Given the description of an element on the screen output the (x, y) to click on. 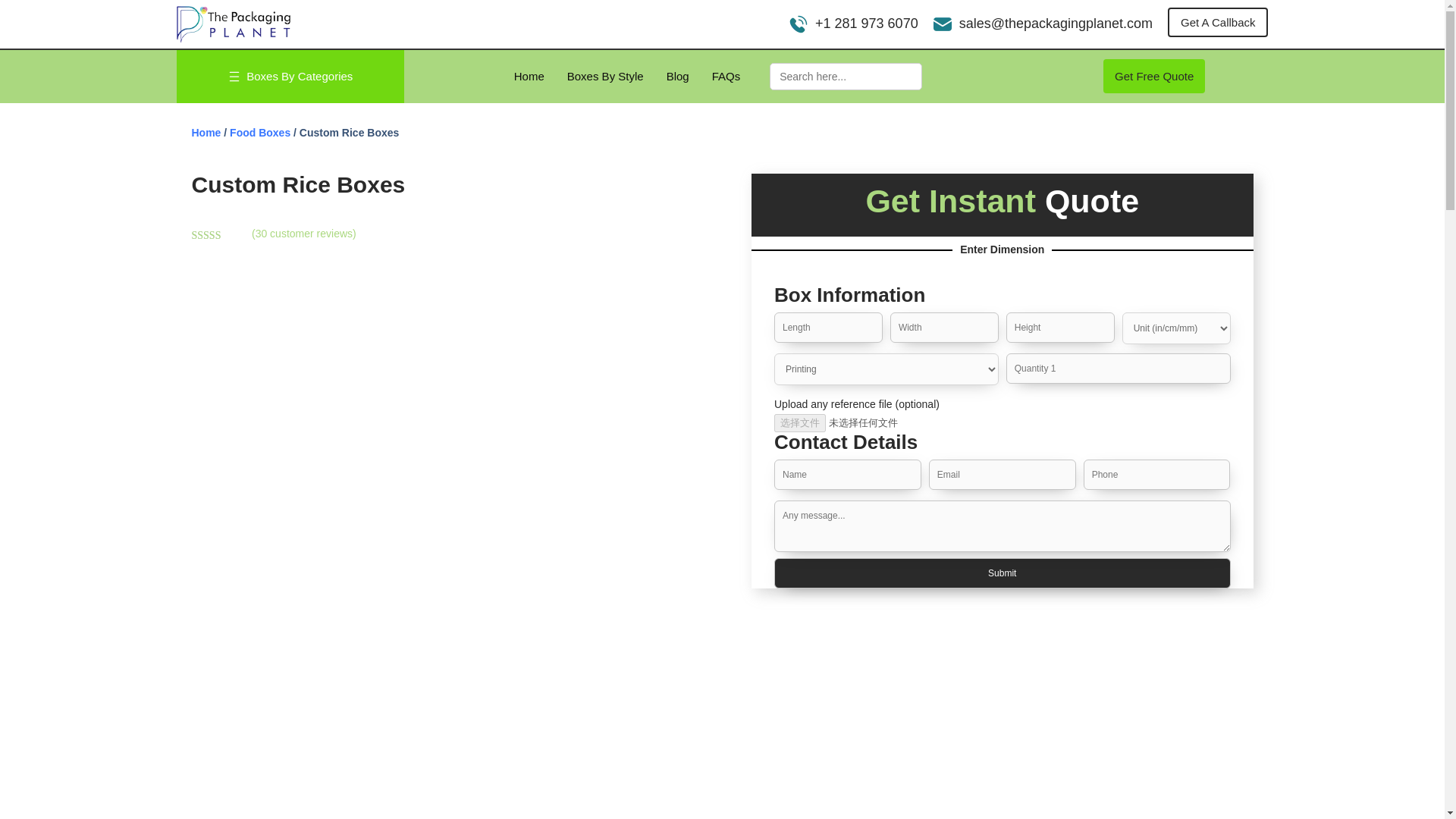
Get Free Quote (1154, 76)
Home (528, 79)
Boxes By Categories (299, 79)
Boxes By Style (605, 79)
Get A Callback (1217, 21)
FAQs (726, 79)
Blog (677, 79)
Submit (1002, 572)
